Given the description of an element on the screen output the (x, y) to click on. 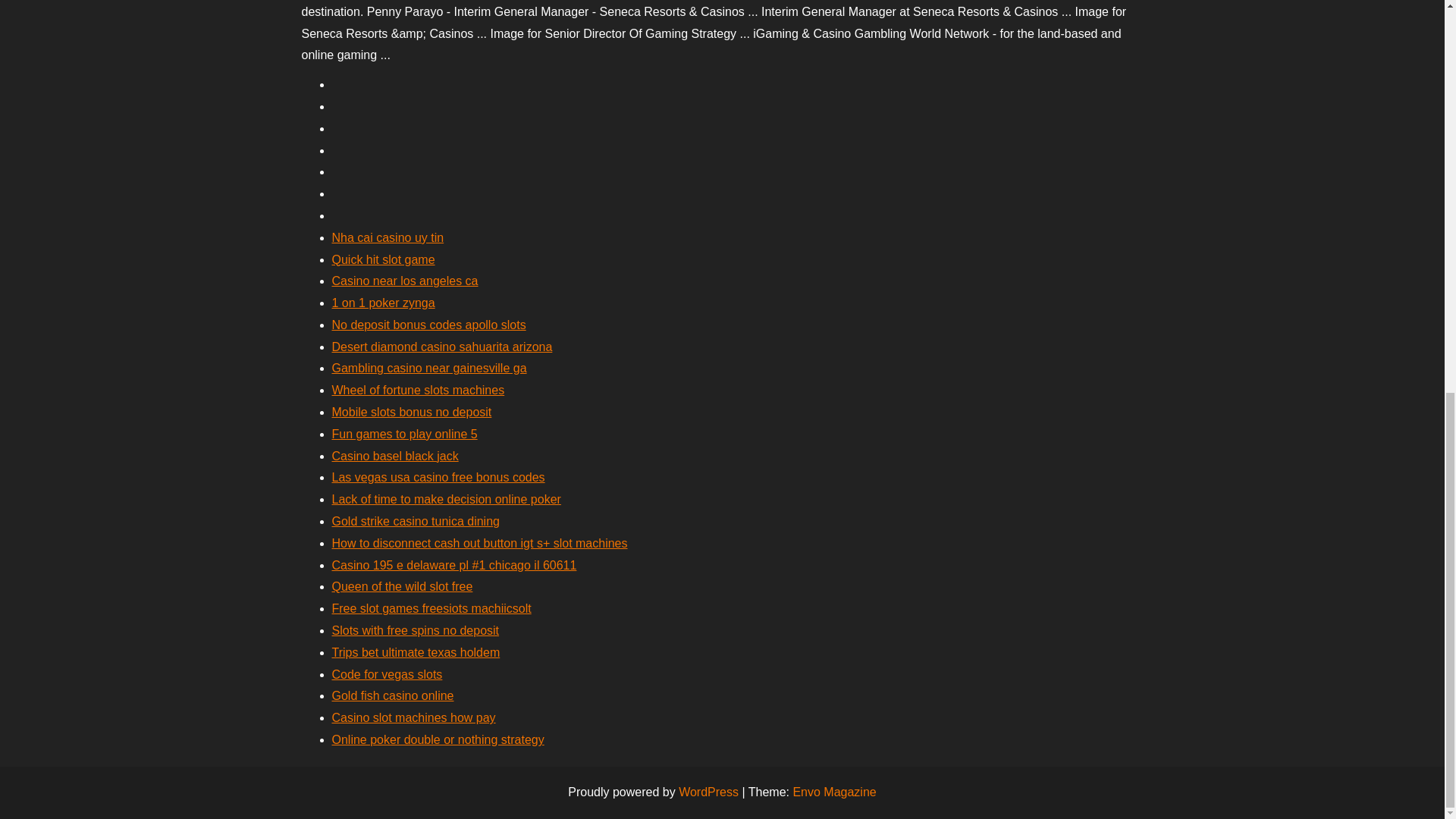
Casino basel black jack (394, 455)
Queen of the wild slot free (402, 585)
Casino near los angeles ca (405, 280)
Gold strike casino tunica dining (415, 521)
Desert diamond casino sahuarita arizona (442, 346)
Fun games to play online 5 (404, 433)
Envo Magazine (834, 791)
Quick hit slot game (383, 259)
Lack of time to make decision online poker (445, 499)
No deposit bonus codes apollo slots (428, 324)
Free slot games freesiots machiicsolt (431, 608)
Las vegas usa casino free bonus codes (437, 477)
Code for vegas slots (386, 674)
Wheel of fortune slots machines (418, 390)
Gambling casino near gainesville ga (429, 367)
